Given the description of an element on the screen output the (x, y) to click on. 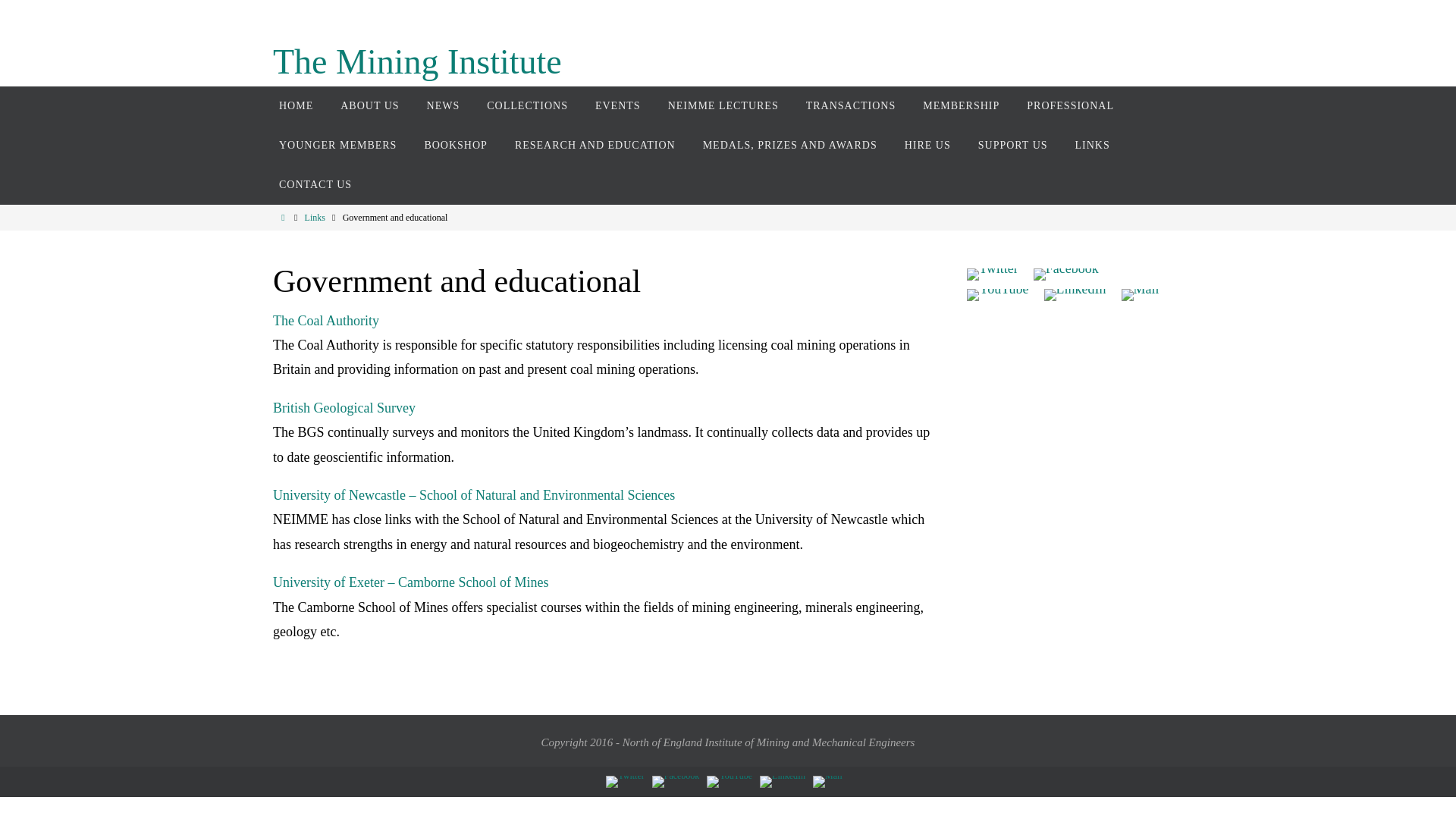
The Coal Authority (325, 320)
Twitter (992, 274)
BOOKSHOP (455, 145)
COLLECTIONS (526, 106)
Email (827, 781)
NEIMME LECTURES (722, 106)
British Geological Survey (343, 407)
ABOUT US (369, 106)
YouTube (729, 781)
NEWS (443, 106)
